Given the description of an element on the screen output the (x, y) to click on. 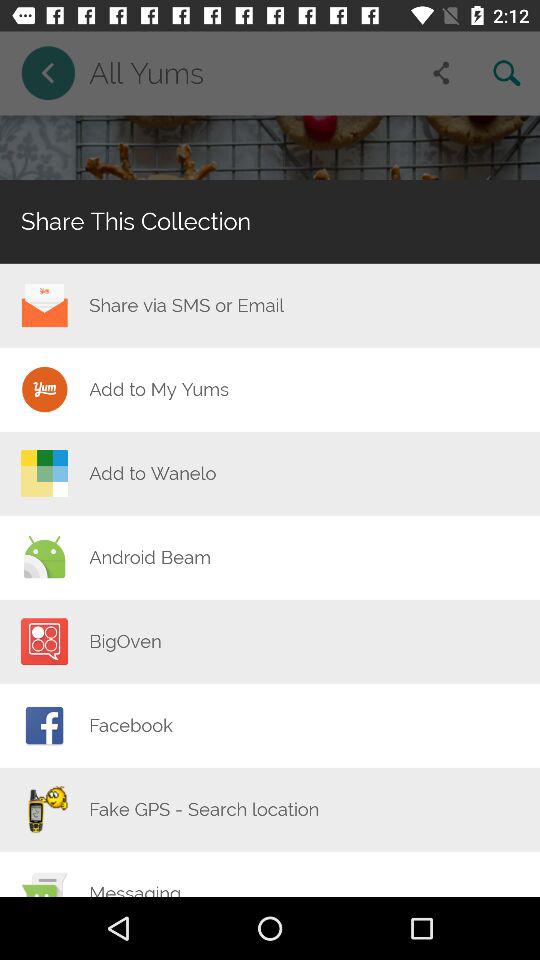
choose the fake gps search icon (204, 809)
